Given the description of an element on the screen output the (x, y) to click on. 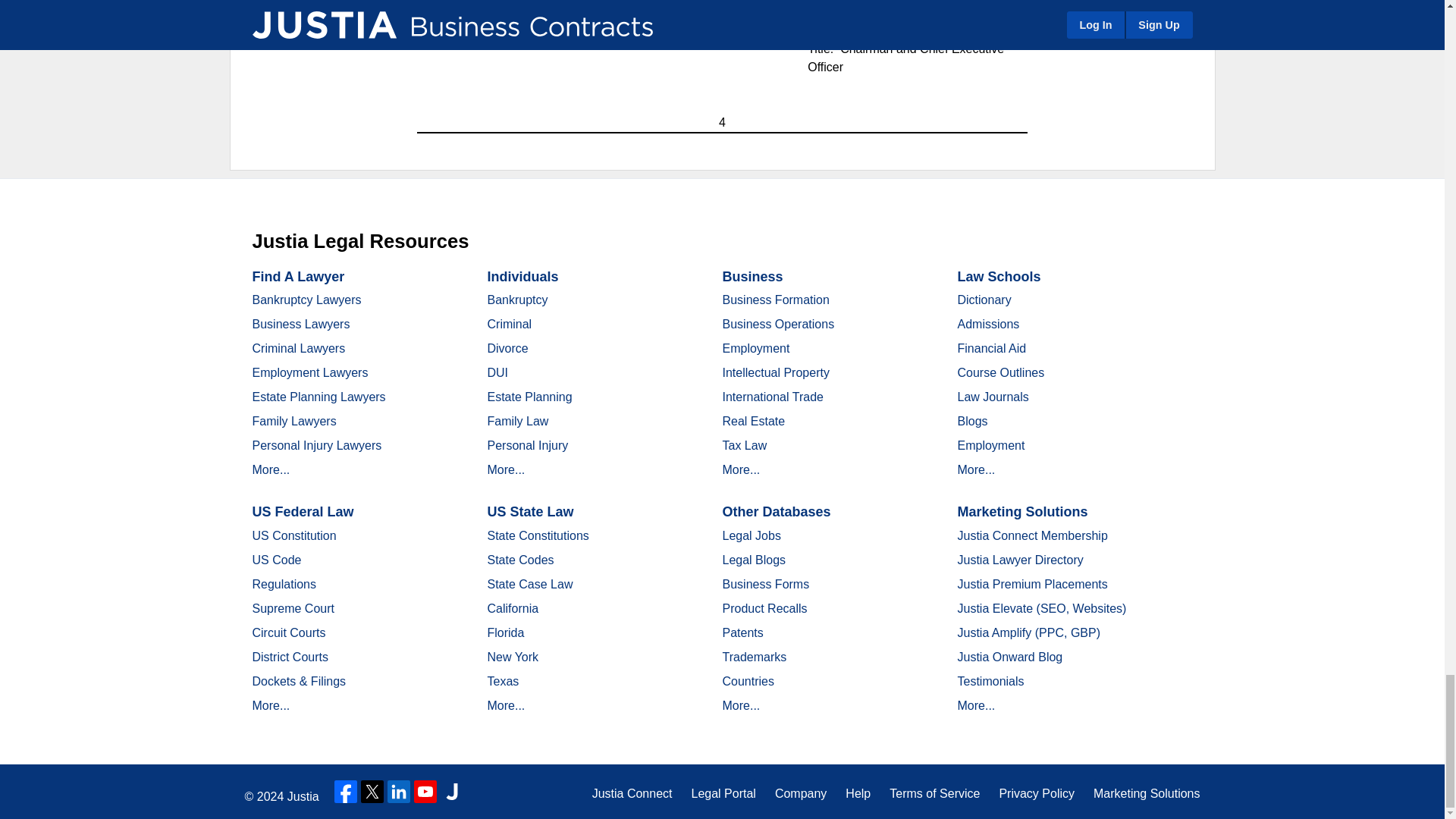
Bankruptcy Lawyers (306, 299)
Personal Injury Lawyers (316, 445)
Criminal Lawyers (298, 348)
LinkedIn (398, 791)
Business Lawyers (300, 323)
Justia Lawyer Directory (452, 791)
Family Lawyers (293, 420)
Twitter (372, 791)
Find A Lawyer (297, 276)
Facebook (345, 791)
More... (270, 469)
Employment Lawyers (309, 372)
YouTube (424, 791)
Estate Planning Lawyers (318, 396)
